Given the description of an element on the screen output the (x, y) to click on. 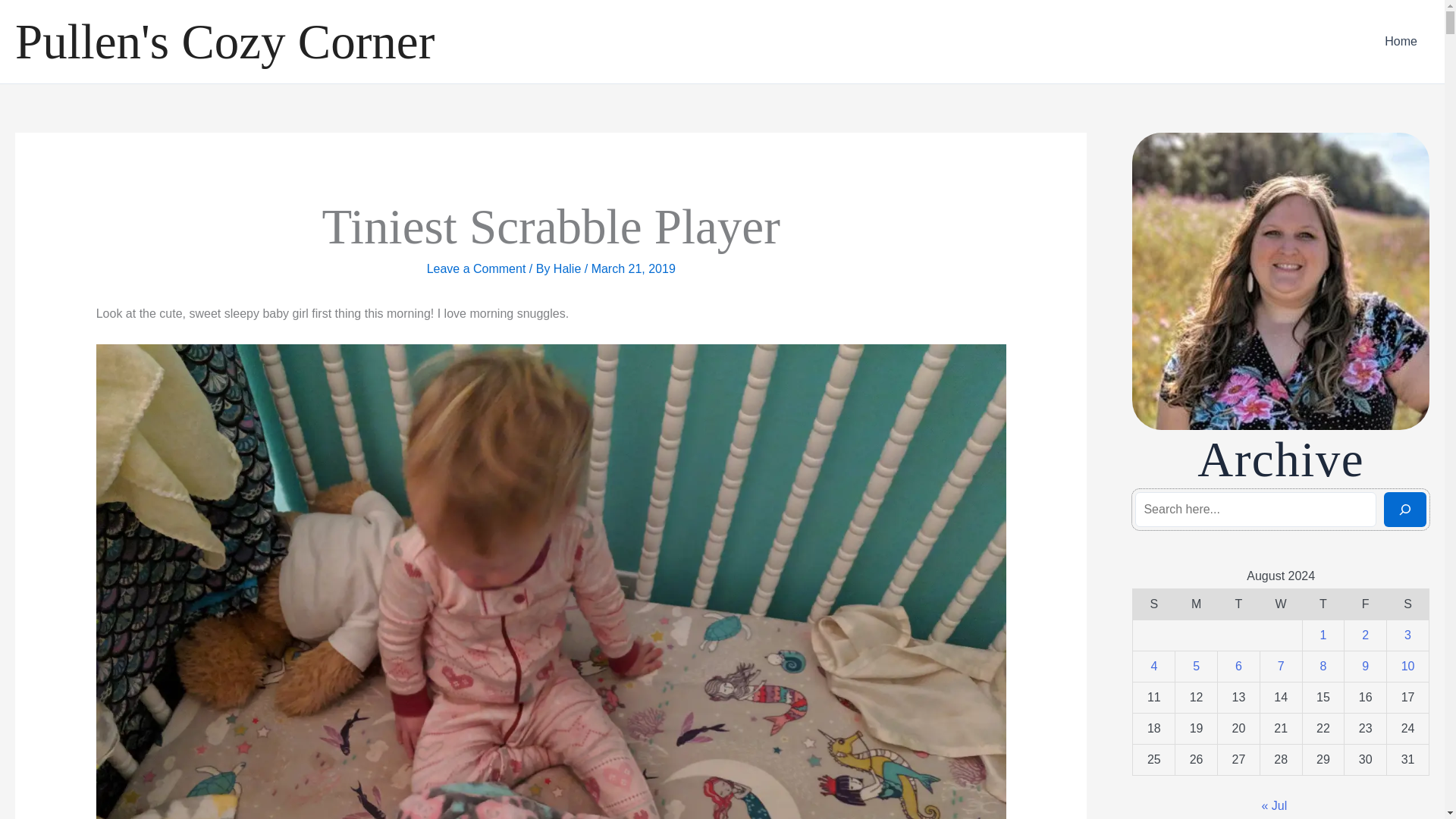
View all posts by Halie (569, 268)
Leave a Comment (475, 268)
Sunday (1153, 603)
Home (1401, 41)
10 (1407, 666)
Monday (1195, 603)
Pullen's Cozy Corner (223, 41)
Halie (569, 268)
